Given the description of an element on the screen output the (x, y) to click on. 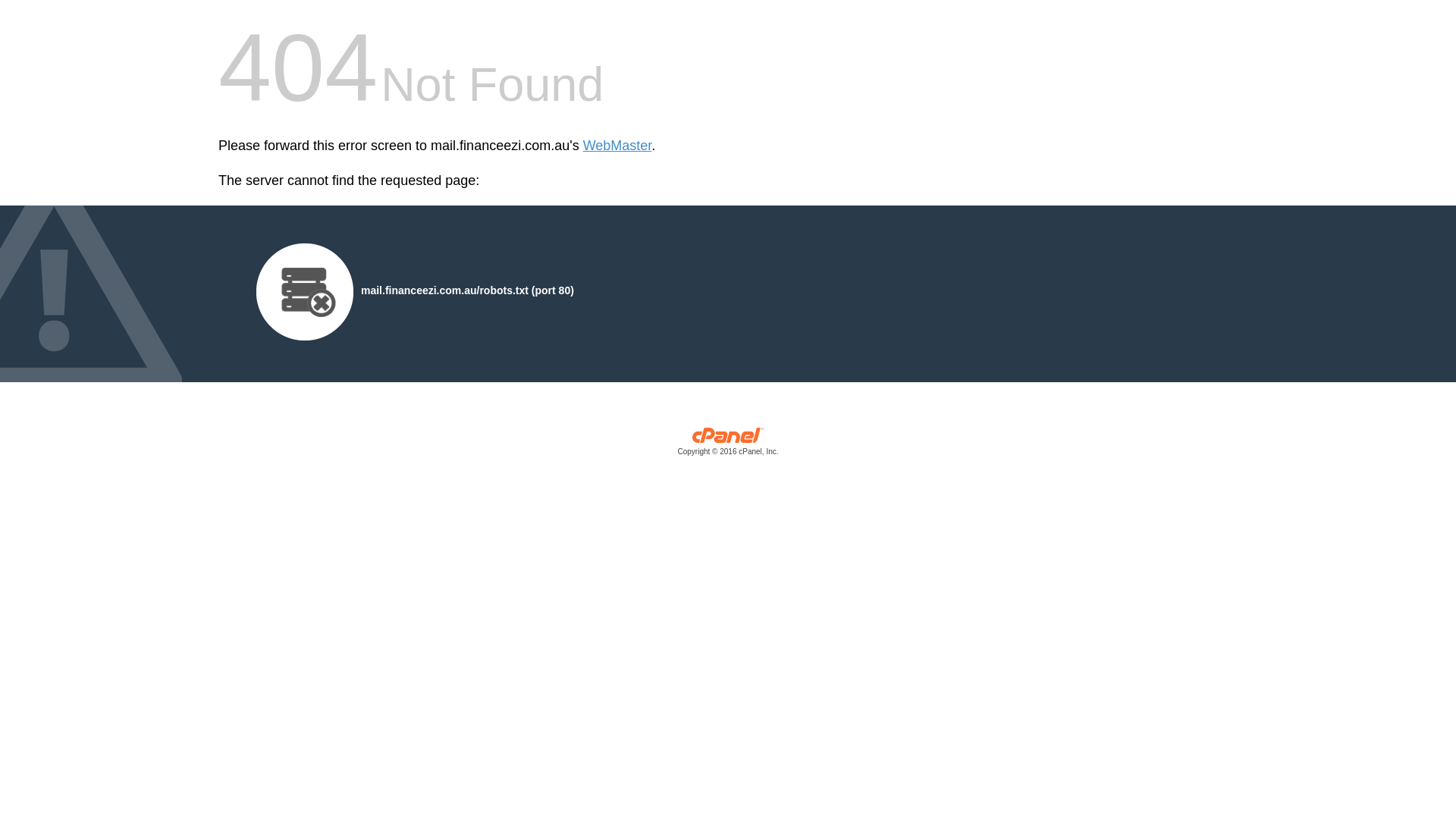
WebMaster Element type: text (617, 145)
